Given the description of an element on the screen output the (x, y) to click on. 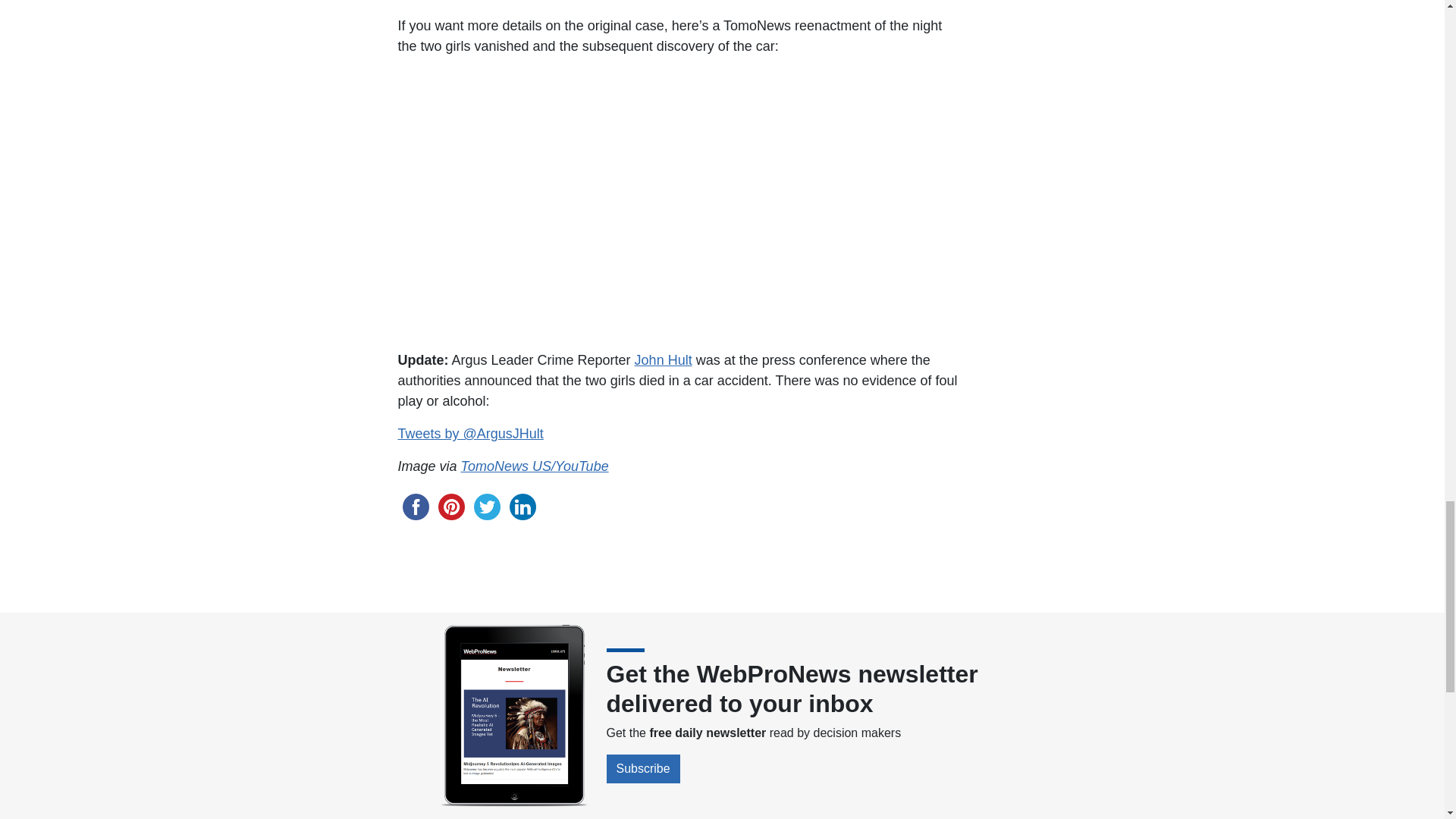
pinterest (450, 506)
twitter (485, 506)
facebook (414, 506)
